Given the description of an element on the screen output the (x, y) to click on. 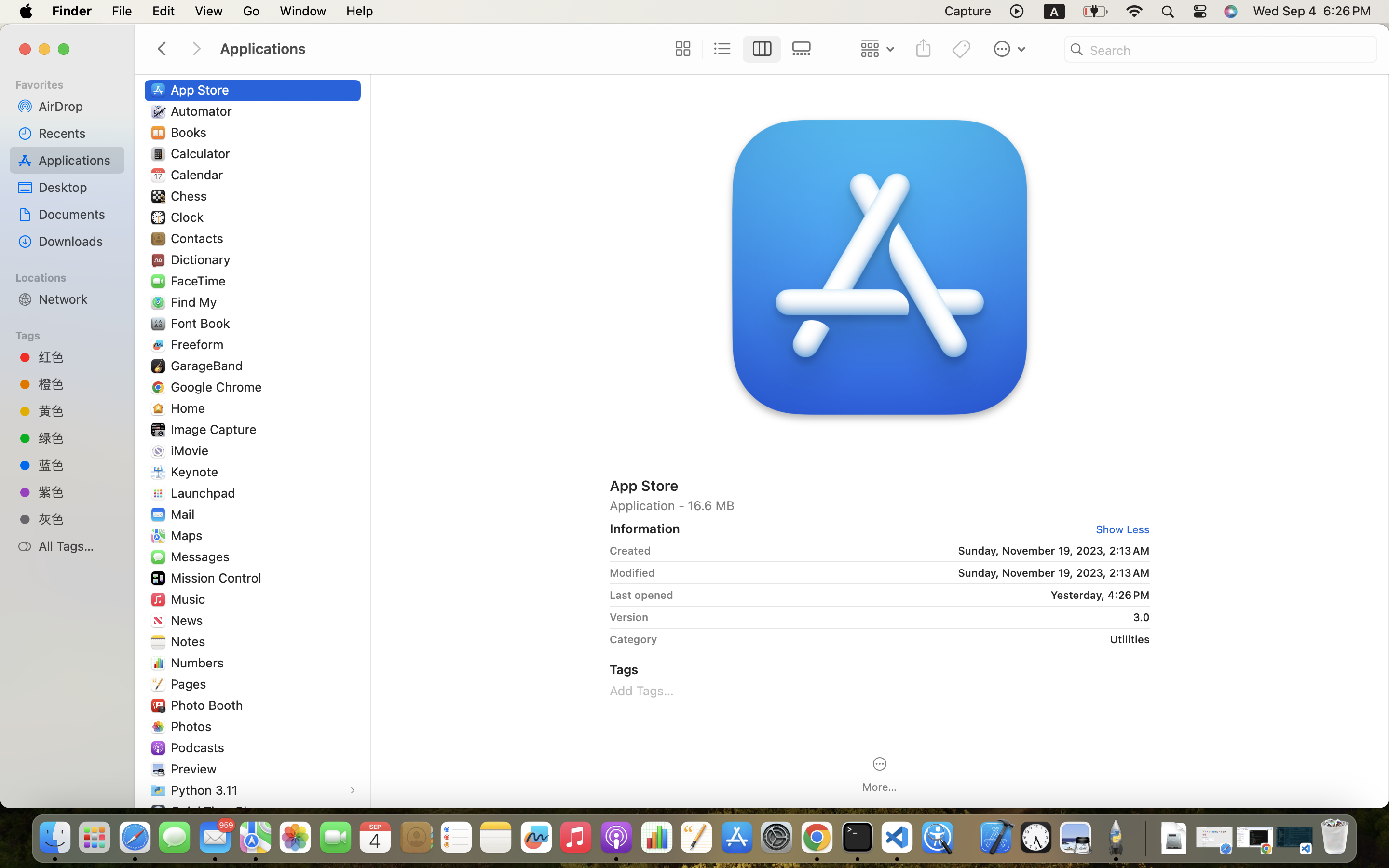
QuickTime Player Element type: AXTextField (222, 810)
Information Element type: AXStaticText (644, 528)
Favorites Element type: AXStaticText (72, 83)
Desktop Element type: AXStaticText (77, 186)
Mail Element type: AXTextField (184, 513)
